Given the description of an element on the screen output the (x, y) to click on. 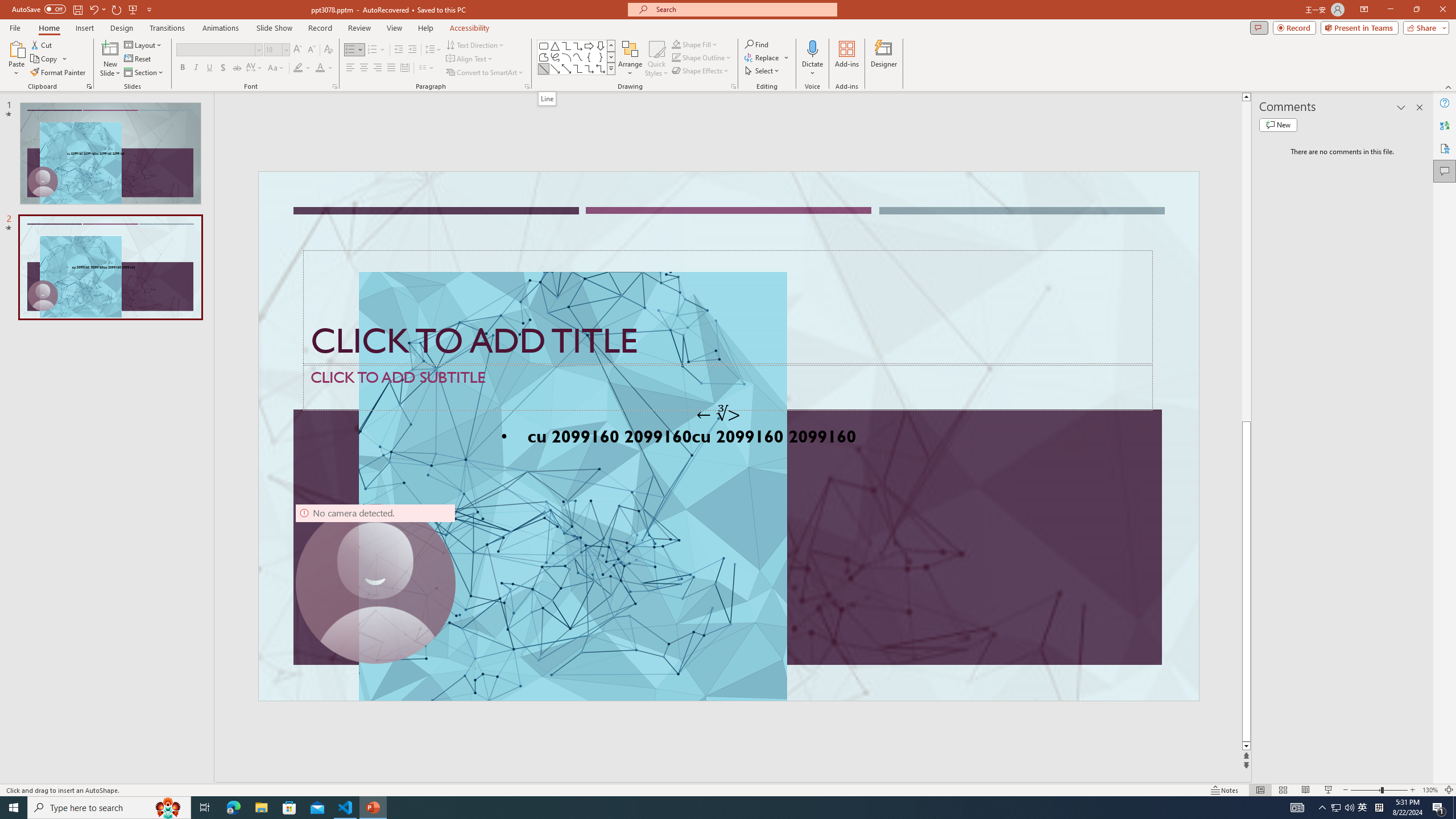
Undo (96, 9)
Designer (883, 58)
Columns (426, 67)
Find... (756, 44)
Line up (1245, 96)
AutoSave (38, 9)
Line Arrow (554, 68)
Shape Fill Dark Green, Accent 2 (675, 44)
Restore Down (1416, 9)
New Slide (110, 48)
Paste (16, 48)
Present in Teams (1359, 27)
Replace... (767, 56)
Design (122, 28)
Insert (83, 28)
